Given the description of an element on the screen output the (x, y) to click on. 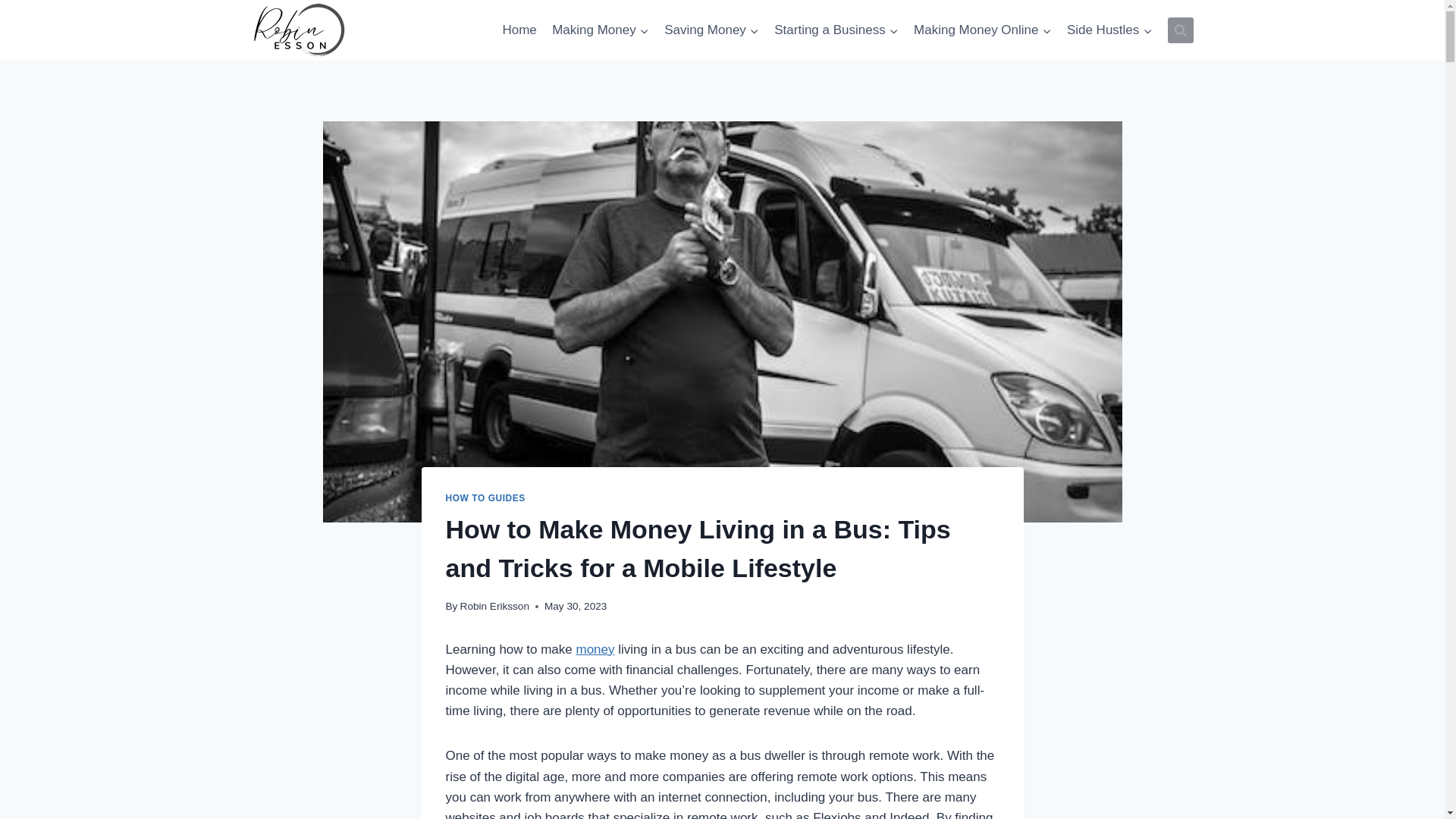
Making Money (600, 30)
Starting a Business (836, 30)
money (595, 649)
Robin Eriksson (494, 605)
money (595, 649)
Saving Money (711, 30)
Making Money Online (982, 30)
Side Hustles (1109, 30)
Home (519, 30)
HOW TO GUIDES (485, 498)
